Given the description of an element on the screen output the (x, y) to click on. 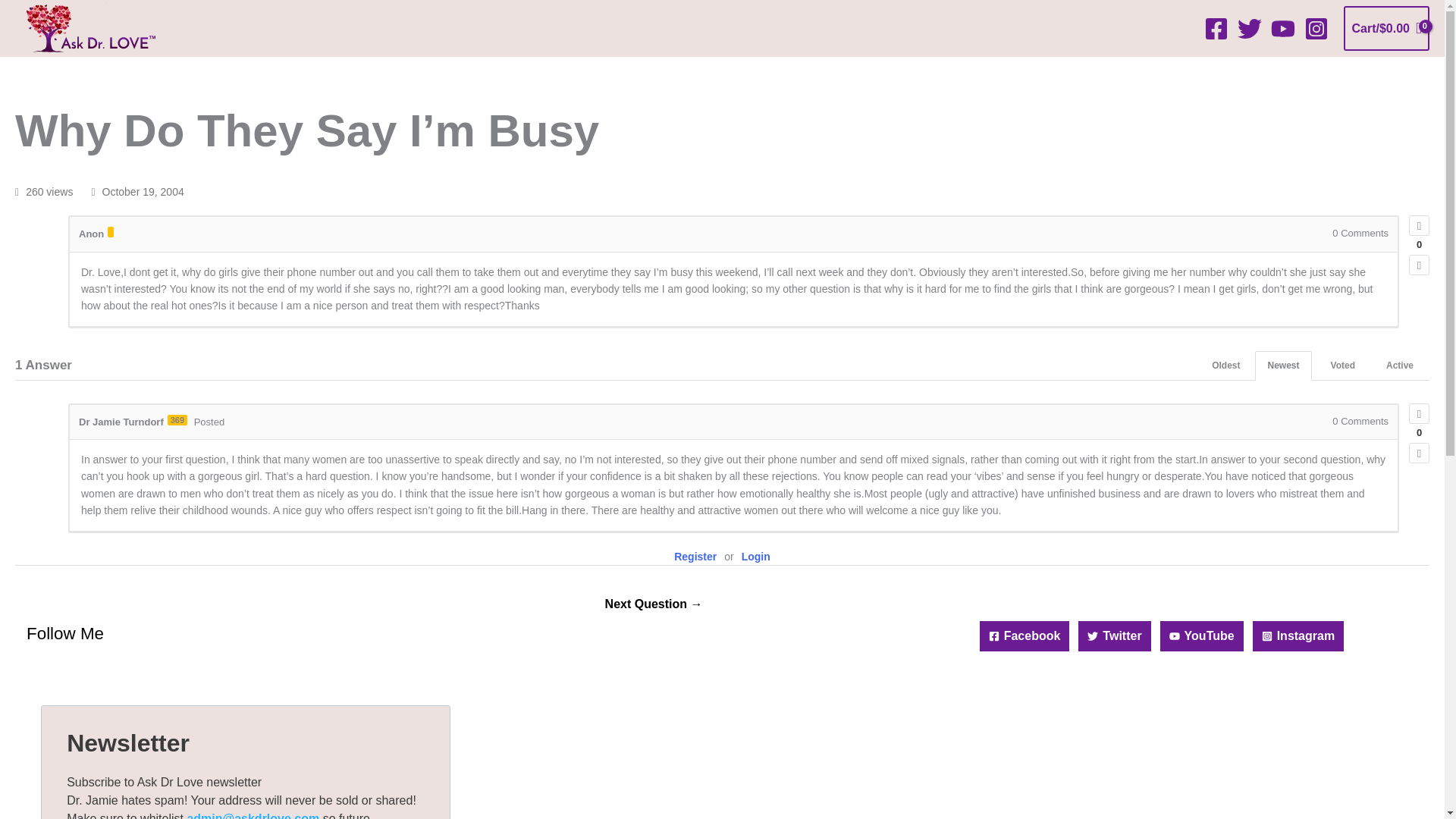
Products and Services (907, 72)
Reputation (177, 419)
My Account (1089, 72)
Blog (380, 72)
Podcast (319, 72)
Down vote this post (1419, 453)
Relationship help! (653, 605)
Home (254, 72)
Subscribe (1176, 72)
Up vote this post (1419, 225)
Up vote this post (1419, 413)
Media (1014, 72)
Shows (703, 72)
About (435, 72)
Live Events (511, 72)
